Given the description of an element on the screen output the (x, y) to click on. 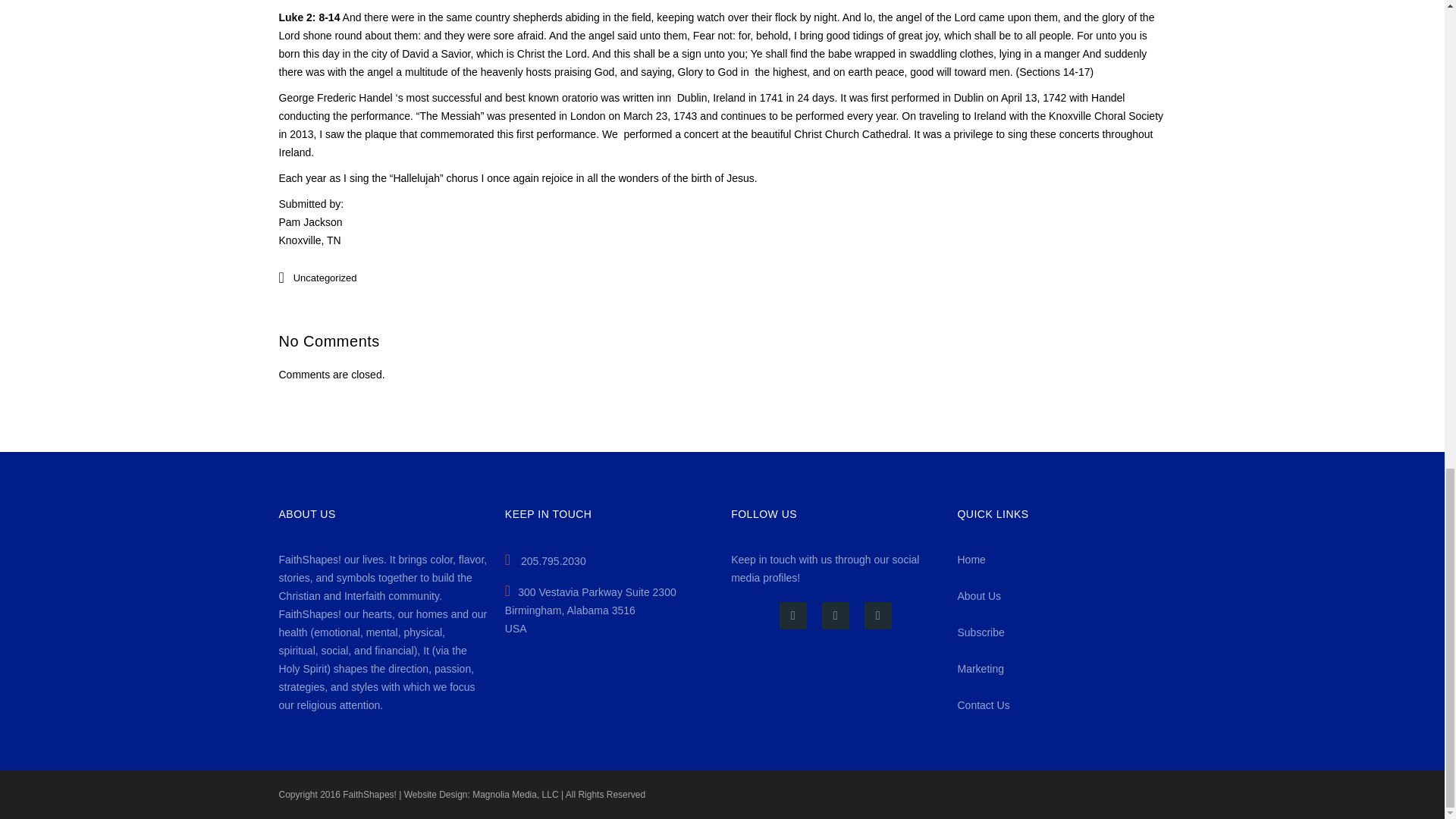
Home (970, 559)
Uncategorized (325, 277)
Twitter (835, 615)
LinkedIn (877, 615)
About Us (978, 595)
Facebook (792, 615)
Subscribe (980, 632)
